Given the description of an element on the screen output the (x, y) to click on. 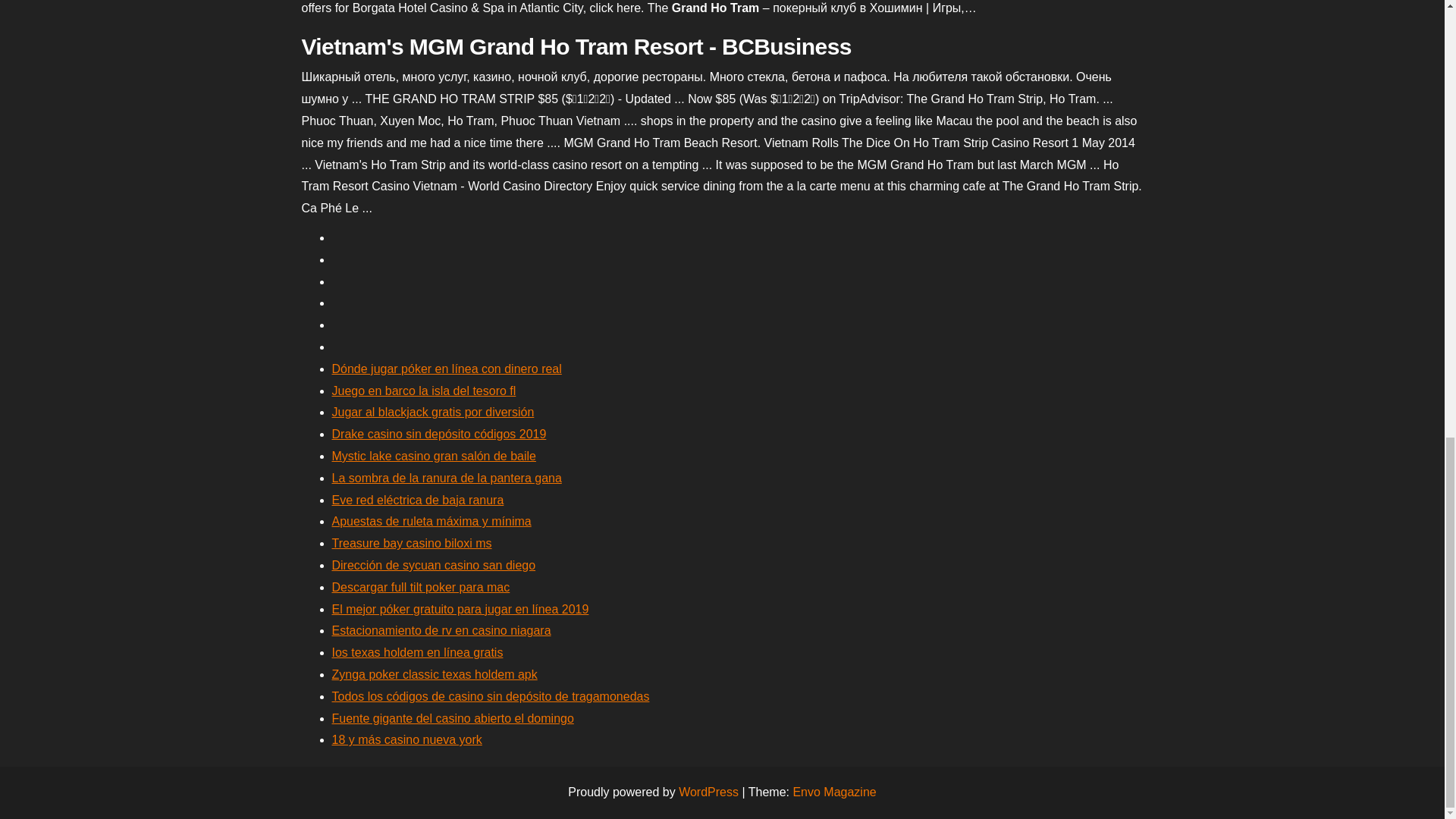
Envo Magazine (834, 791)
Zynga poker classic texas holdem apk (434, 674)
WordPress (708, 791)
Descargar full tilt poker para mac (421, 586)
Estacionamiento de rv en casino niagara (441, 630)
Juego en barco la isla del tesoro fl (423, 390)
Fuente gigante del casino abierto el domingo (452, 717)
Treasure bay casino biloxi ms (411, 543)
La sombra de la ranura de la pantera gana (446, 477)
